Given the description of an element on the screen output the (x, y) to click on. 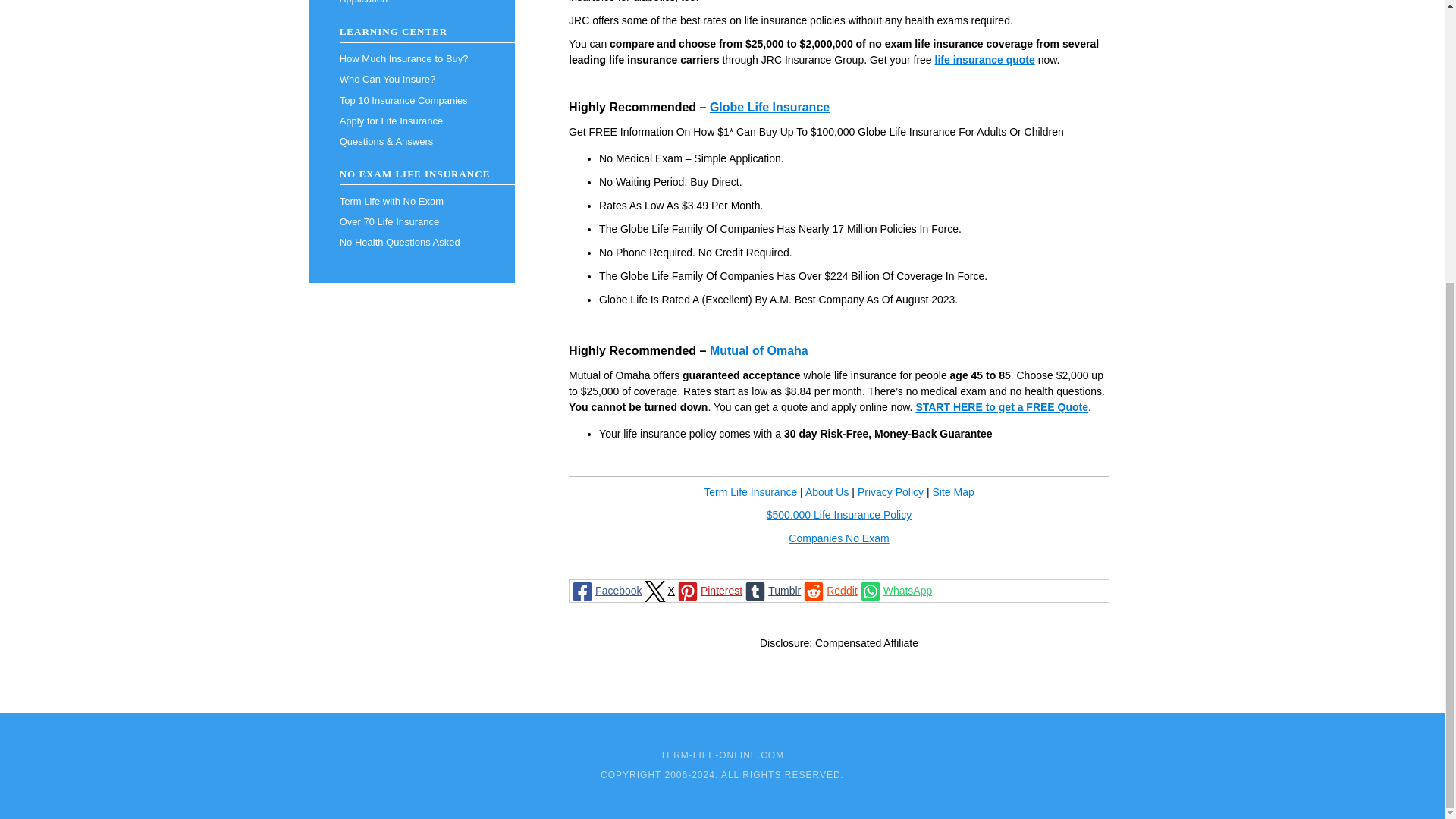
Tumblr (771, 590)
WhatsApp (895, 590)
Term Life with No Exam (411, 200)
Pinterest (708, 590)
START HERE to get a FREE Quote (1001, 407)
No Health Questions Asked (411, 241)
Globe Life Insurance (769, 106)
No Medical Exam - Simple Application (411, 4)
Facebook (605, 590)
Reddit (828, 590)
Top 10 Insurance Companies (411, 100)
life insurance quote (984, 60)
Companies No Exam (838, 538)
Site Map (952, 491)
Apply for Life Insurance (411, 120)
